Given the description of an element on the screen output the (x, y) to click on. 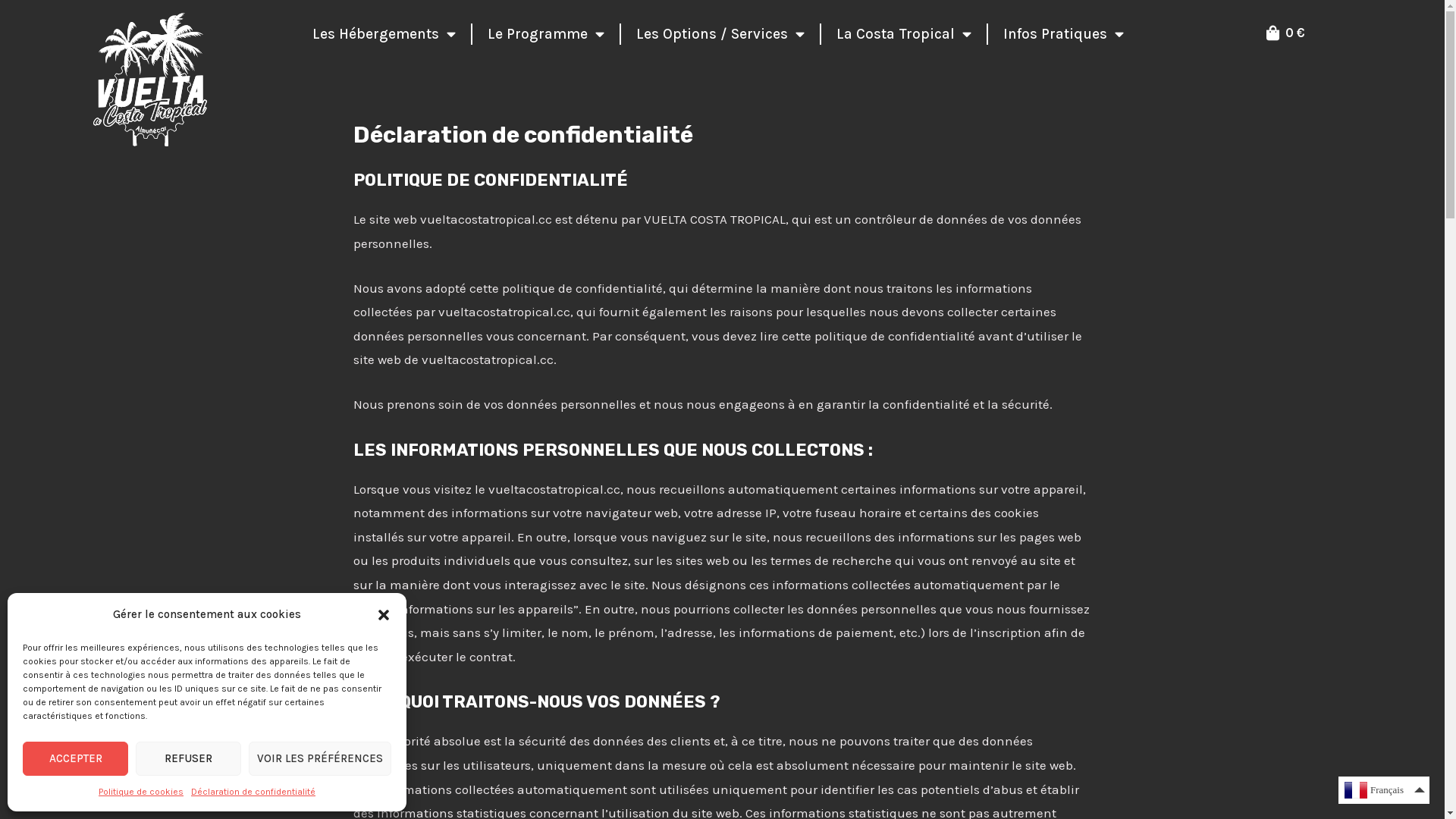
Le Programme Element type: text (562, 33)
La Costa Tropical Element type: text (886, 221)
REFUSER Element type: text (188, 758)
Politique de cookies Element type: text (140, 791)
Infos Pratiques Element type: text (1030, 221)
ACCEPTER Element type: text (75, 758)
Les Options / Services Element type: text (720, 221)
